Given the description of an element on the screen output the (x, y) to click on. 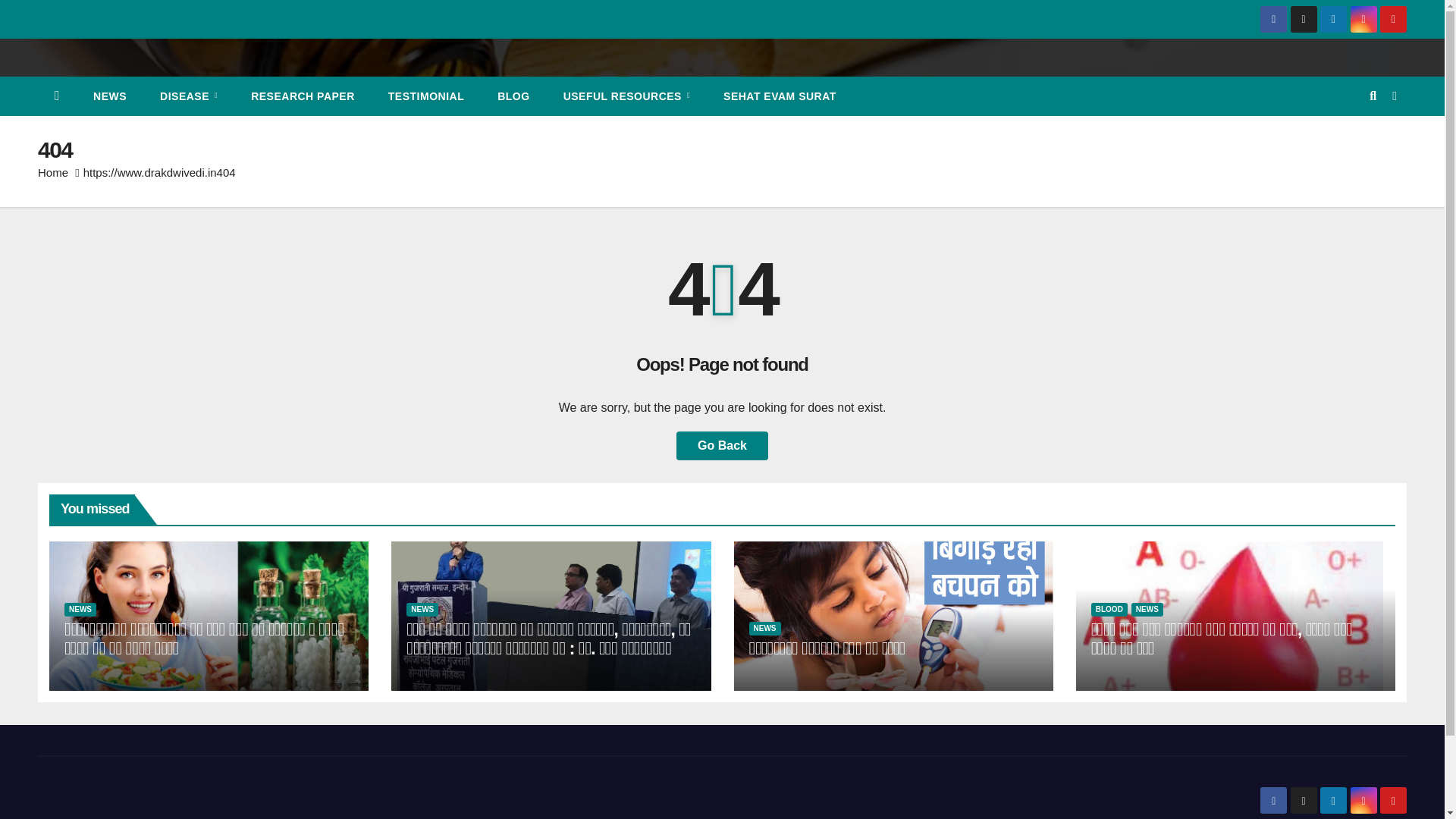
NEWS (109, 96)
News (109, 96)
Disease (188, 96)
DISEASE (188, 96)
